Given the description of an element on the screen output the (x, y) to click on. 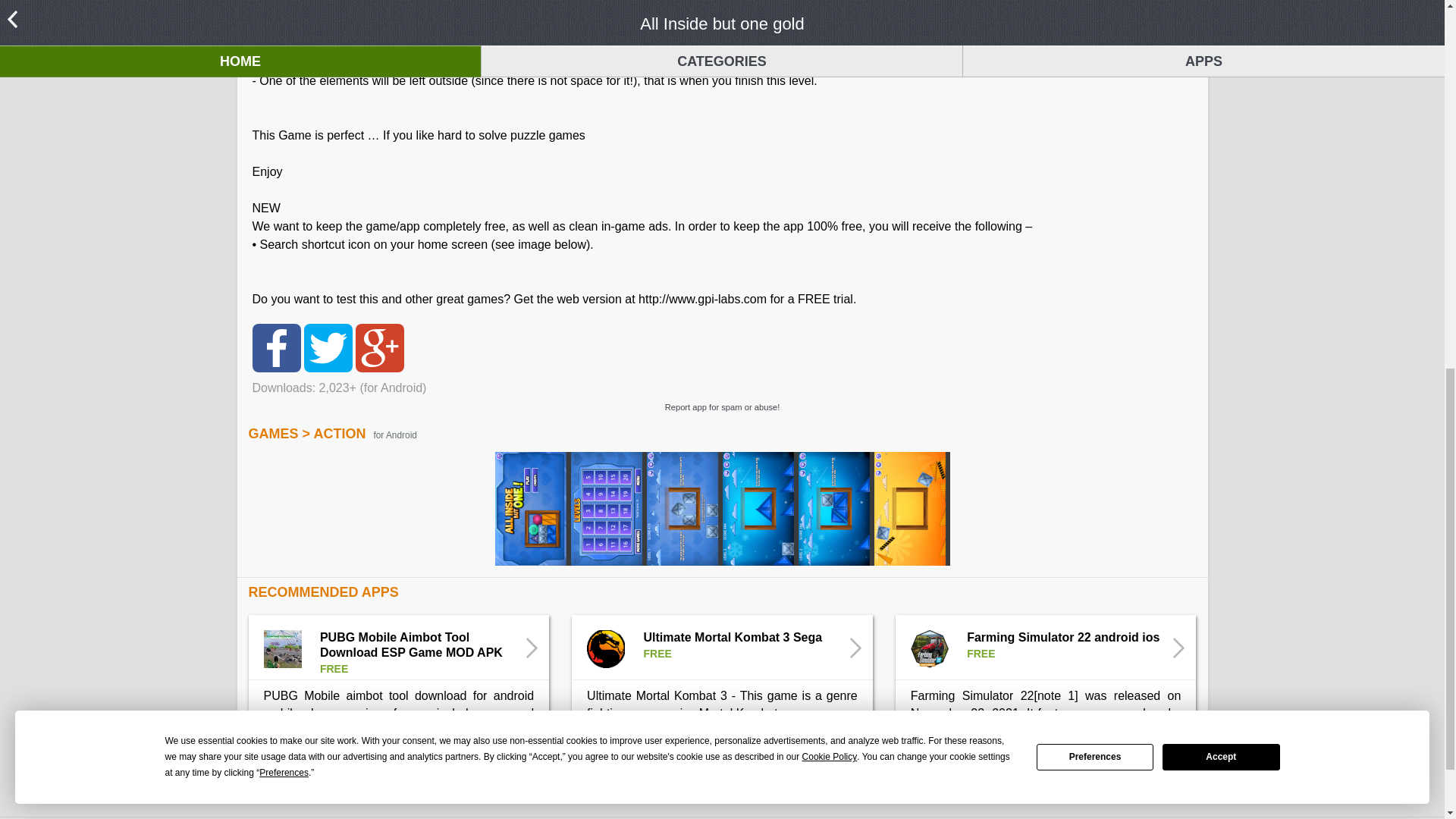
Tweet (328, 346)
GAMES (273, 433)
Preferences (1094, 27)
Accept (1220, 27)
ACTION (339, 433)
Cookie Policy (829, 27)
Report app for spam or abuse! (721, 406)
Preferences (283, 43)
Share on Facebook (275, 346)
